Given the description of an element on the screen output the (x, y) to click on. 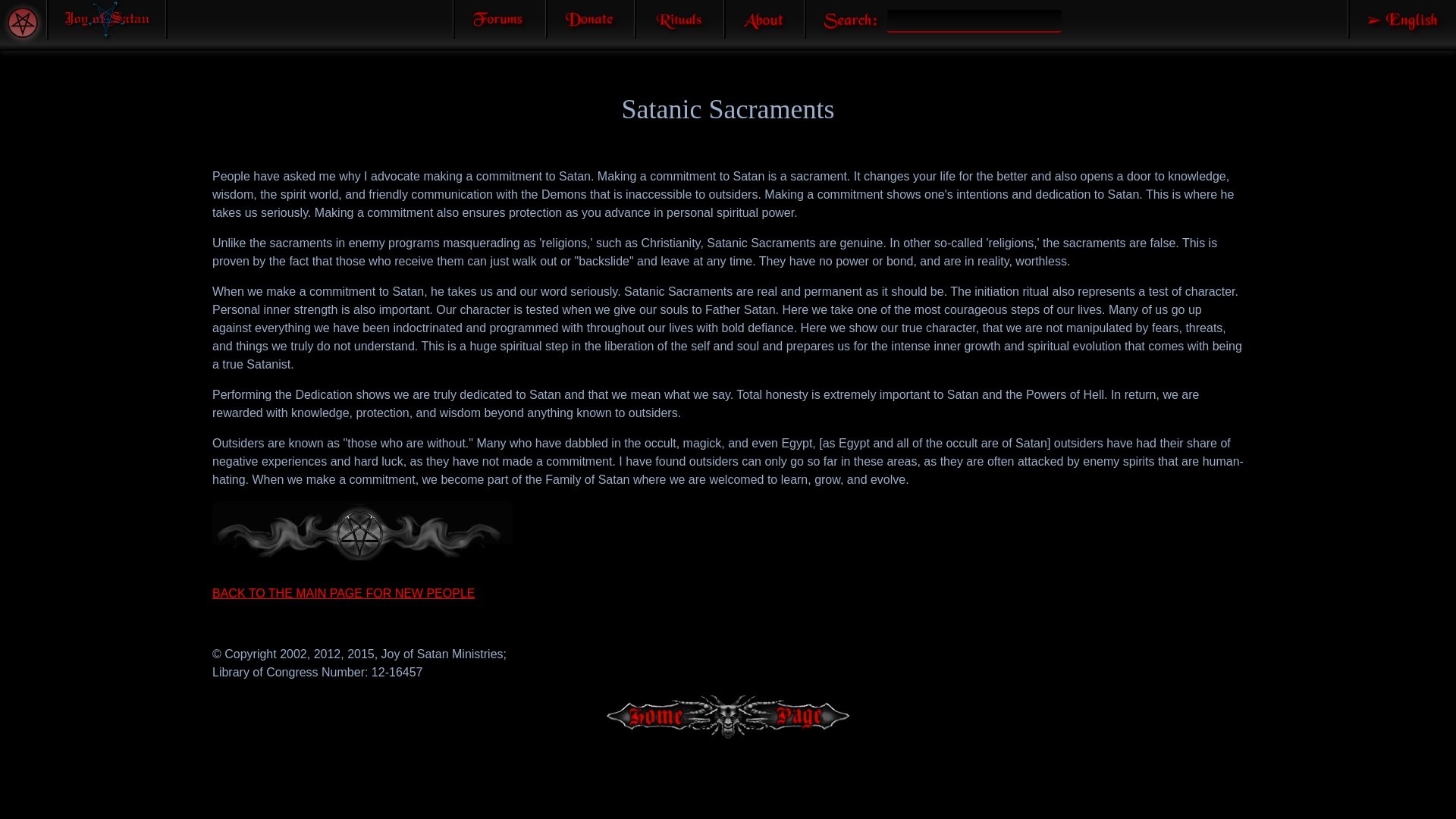
Page Settings (22, 22)
Joy of Satan Home Page (105, 19)
